Given the description of an element on the screen output the (x, y) to click on. 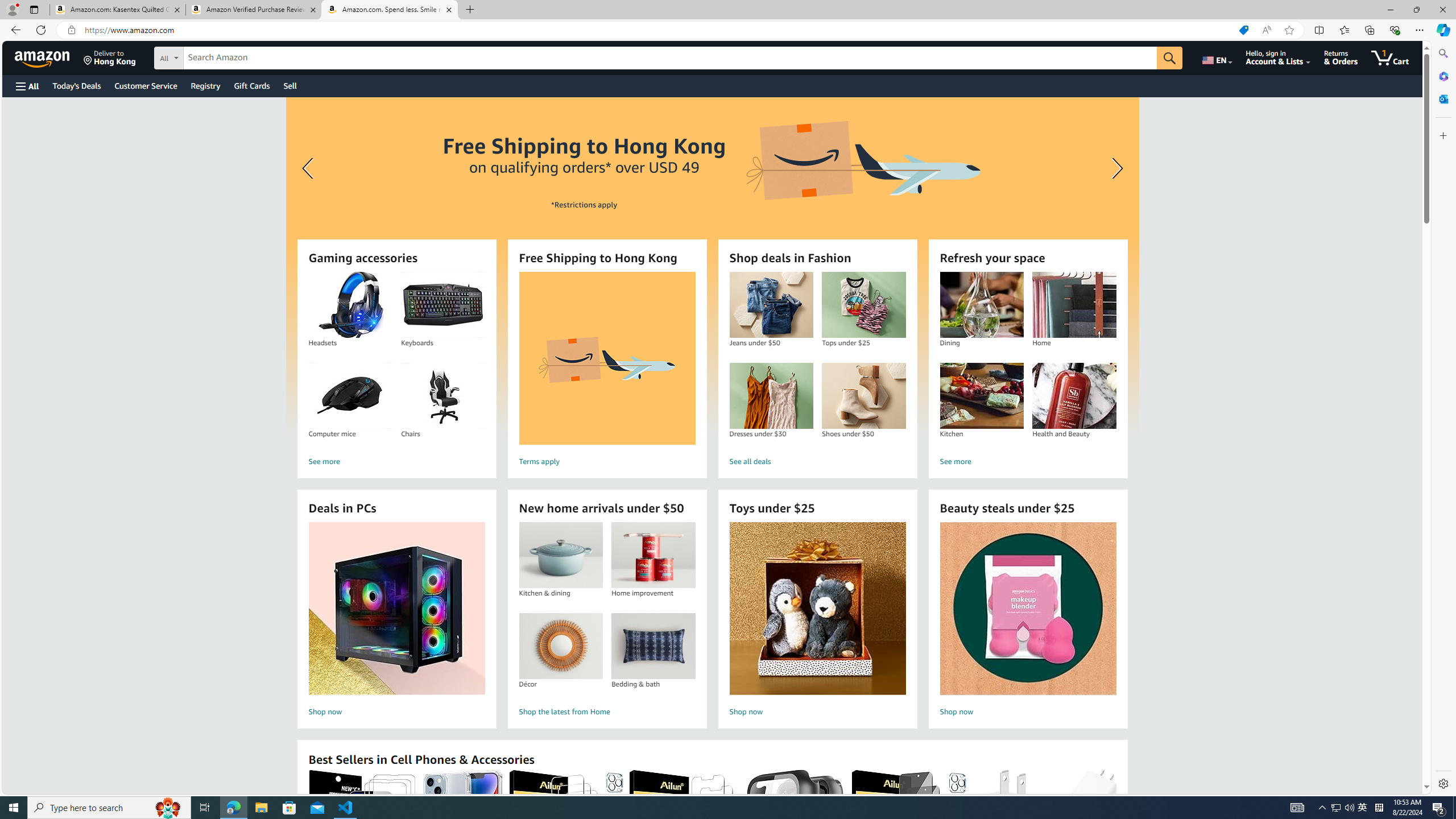
Kitchen & dining (560, 555)
Today's Deals (76, 85)
Home improvement (652, 555)
Jeans under $50 (770, 304)
Go (1169, 57)
Kitchen & dining (560, 555)
Choose a language for shopping. (1216, 57)
Shoes under $50 (863, 395)
Search Amazon (670, 57)
Dresses under $30 (770, 395)
See all deals (817, 461)
